Given the description of an element on the screen output the (x, y) to click on. 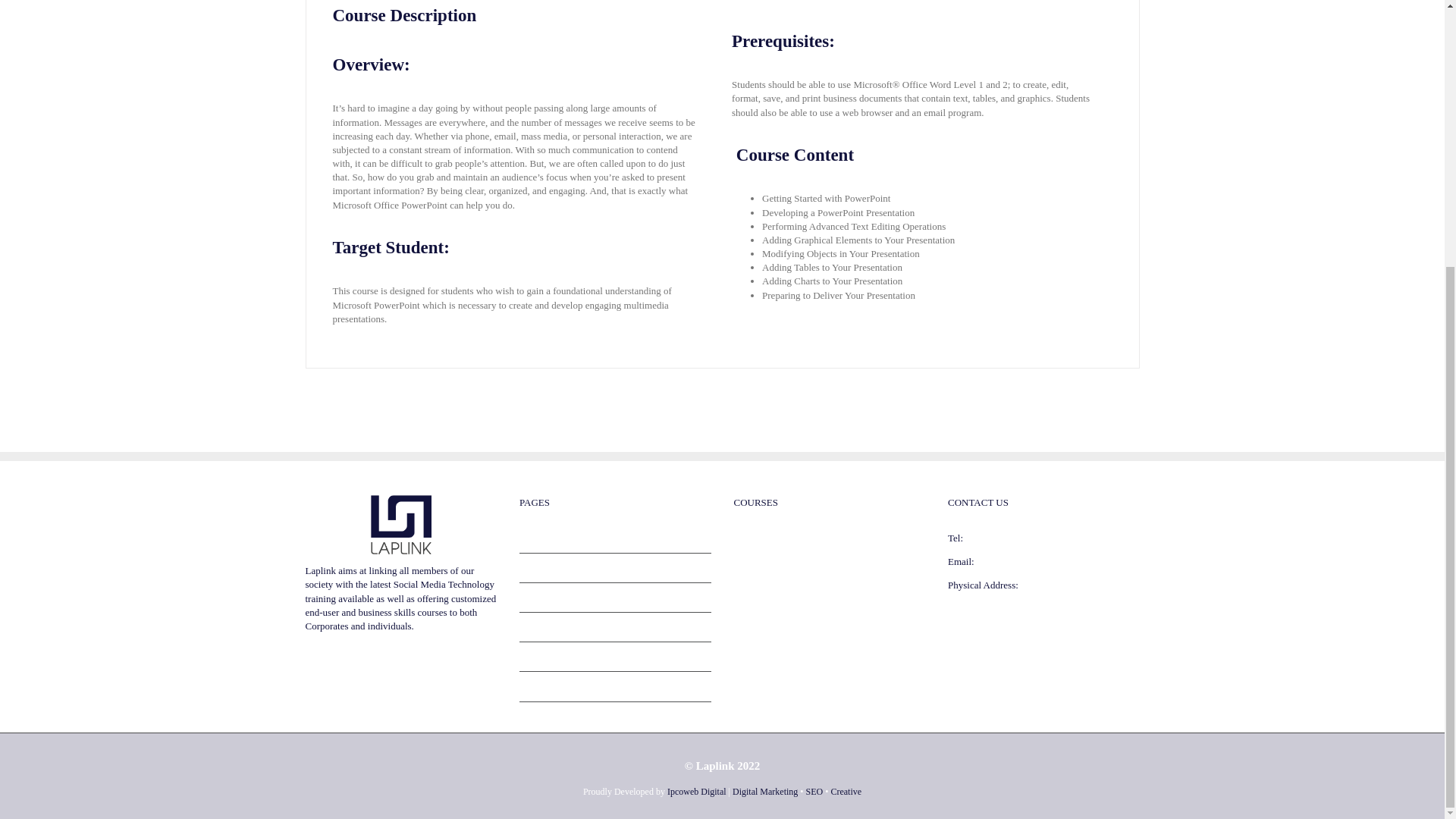
Laplink Training Solutions (615, 626)
Clients (615, 567)
About Laplink Training Solutions (615, 538)
Office Skills (758, 561)
Contact Us (615, 597)
POPIA Compliance (615, 656)
Computer Skills (765, 537)
